Given the description of an element on the screen output the (x, y) to click on. 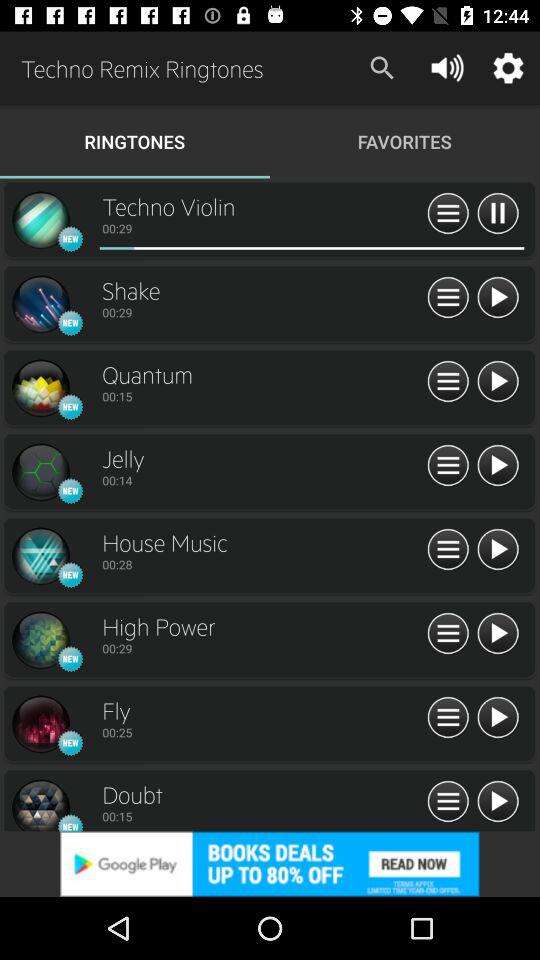
go to ringtone information (447, 801)
